Given the description of an element on the screen output the (x, y) to click on. 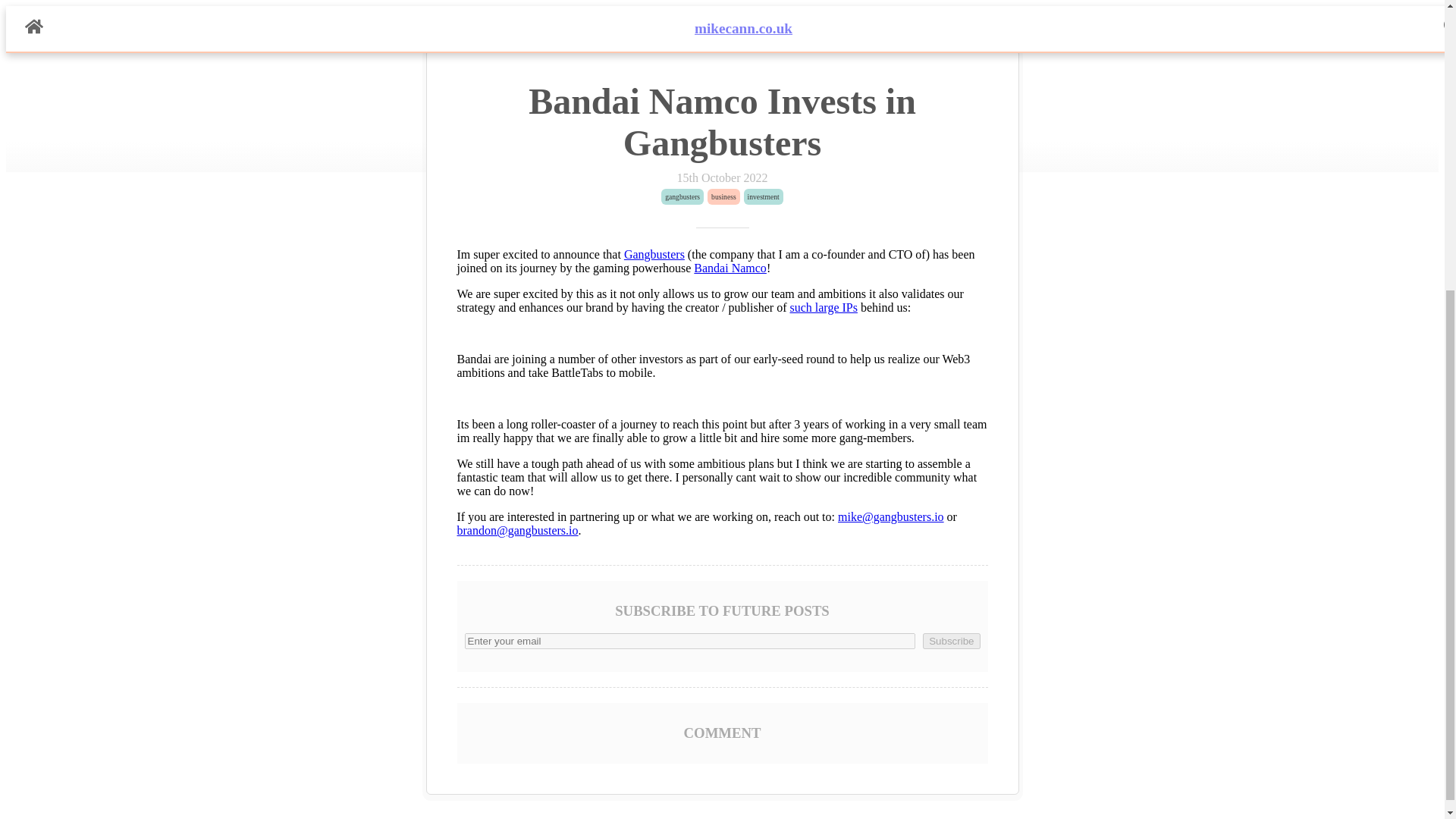
Subscribe (951, 641)
such large IPs (823, 307)
Gangbusters (654, 254)
Subscribe (951, 641)
Bandai Namco (730, 267)
